Given the description of an element on the screen output the (x, y) to click on. 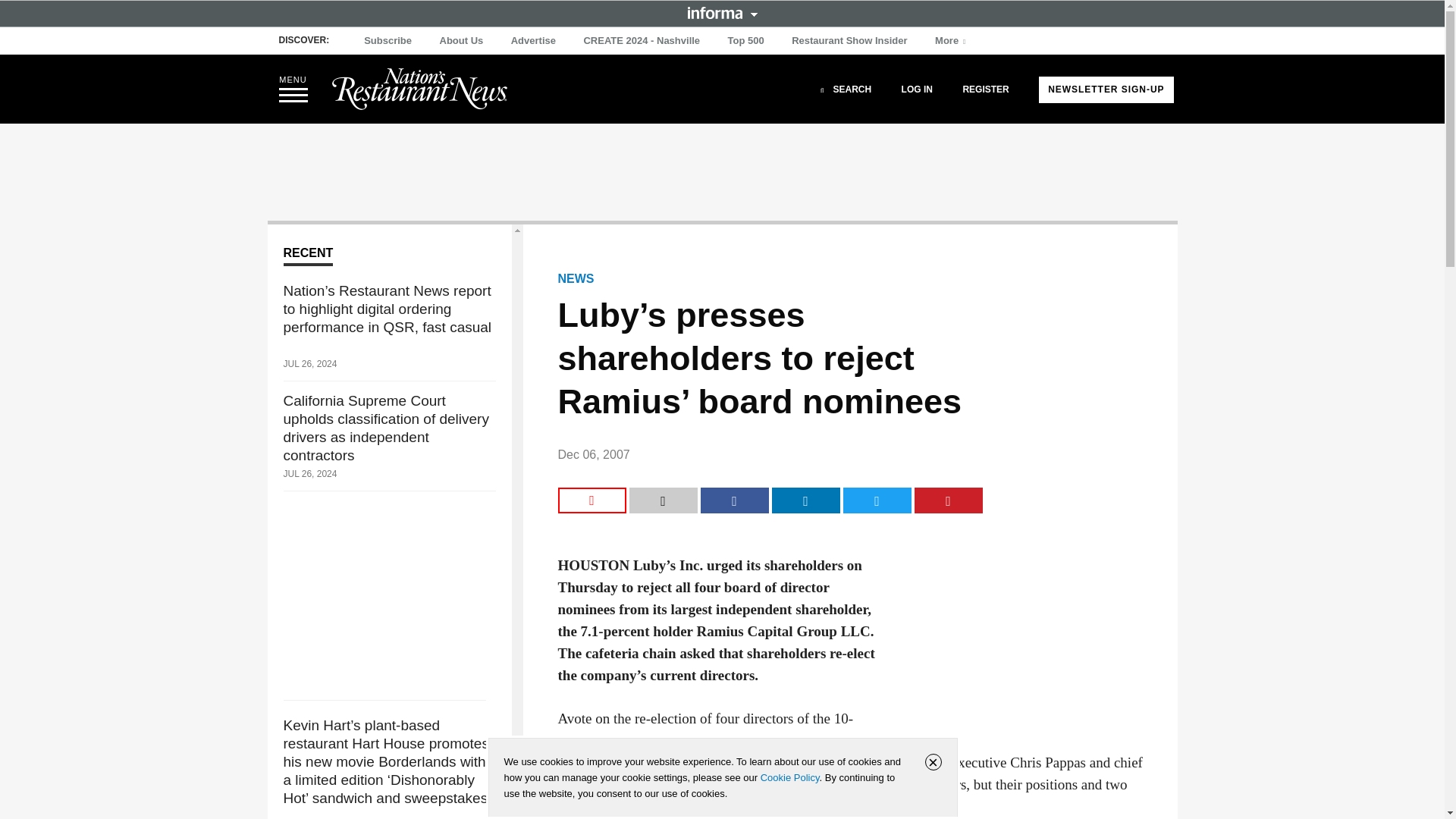
Advertise (533, 41)
INFORMA (722, 12)
CREATE 2024 - Nashville (641, 41)
About Us (461, 41)
Restaurant Show Insider (849, 41)
MENU (293, 88)
Subscribe (387, 41)
Top 500 (746, 41)
More (951, 41)
Cookie Policy (789, 777)
